Given the description of an element on the screen output the (x, y) to click on. 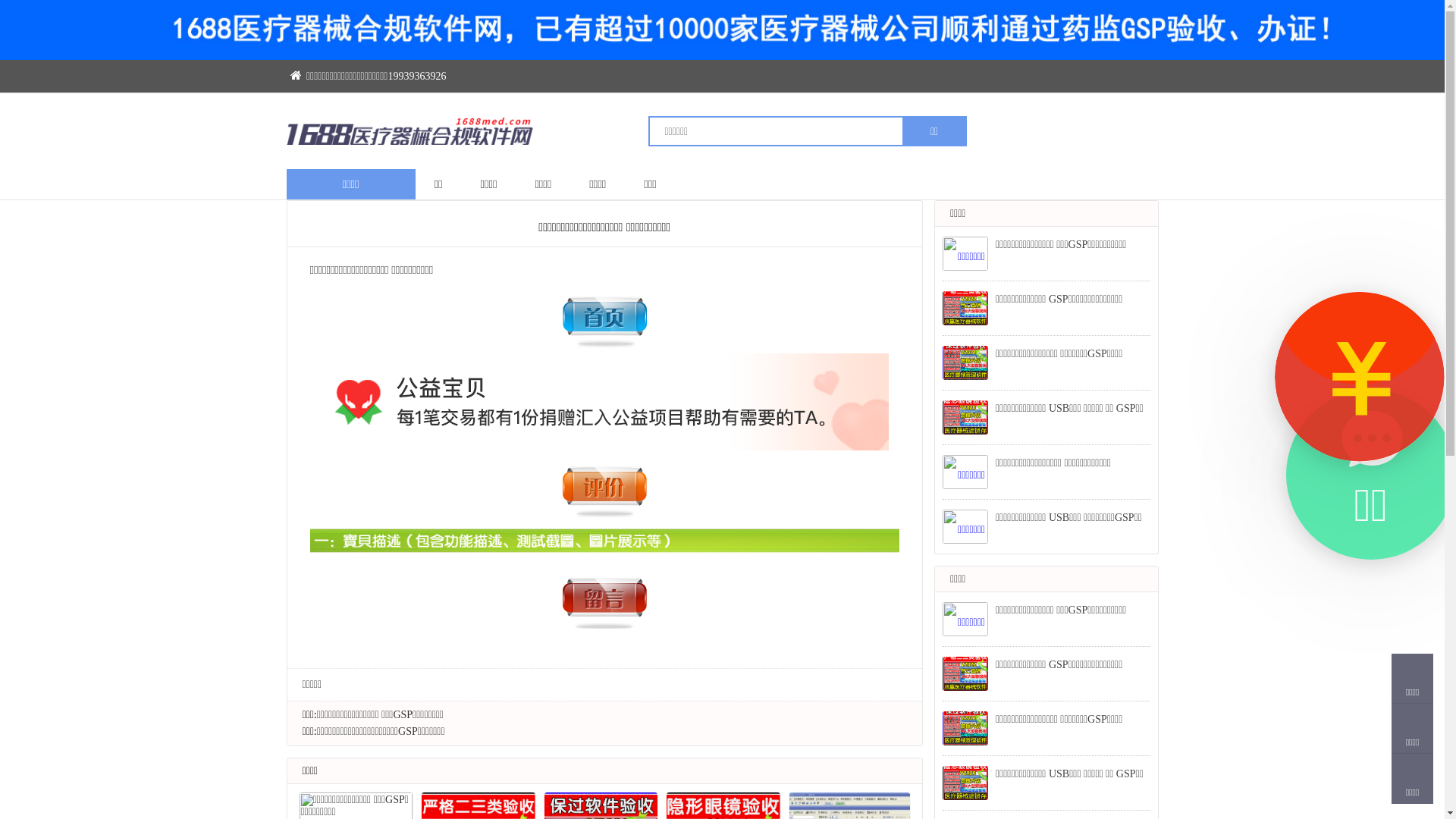
x3.jpg Element type: hover (604, 597)
x1.jpg Element type: hover (604, 401)
x4.jpg Element type: hover (604, 486)
x5.jpg Element type: hover (604, 542)
x2.jpg Element type: hover (604, 316)
